Given the description of an element on the screen output the (x, y) to click on. 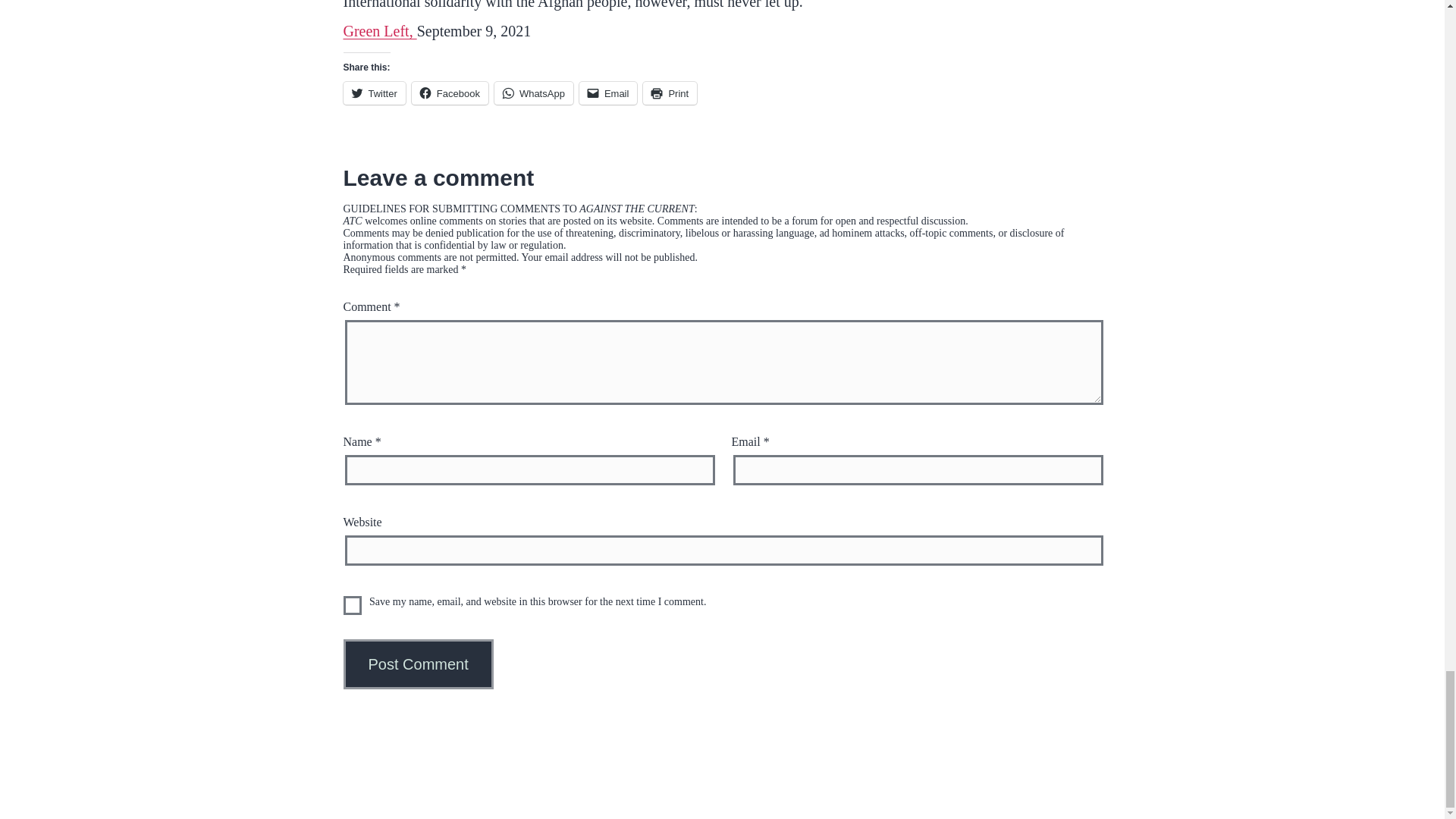
Click to share on Twitter (373, 92)
Click to share on Facebook (449, 92)
Post Comment (417, 664)
Click to share on WhatsApp (534, 92)
Facebook (449, 92)
Post Comment (417, 664)
yes (351, 605)
Click to email a link to a friend (608, 92)
Click to print (670, 92)
Print (670, 92)
Green Left, (379, 30)
Twitter (373, 92)
WhatsApp (534, 92)
Email (608, 92)
